Given the description of an element on the screen output the (x, y) to click on. 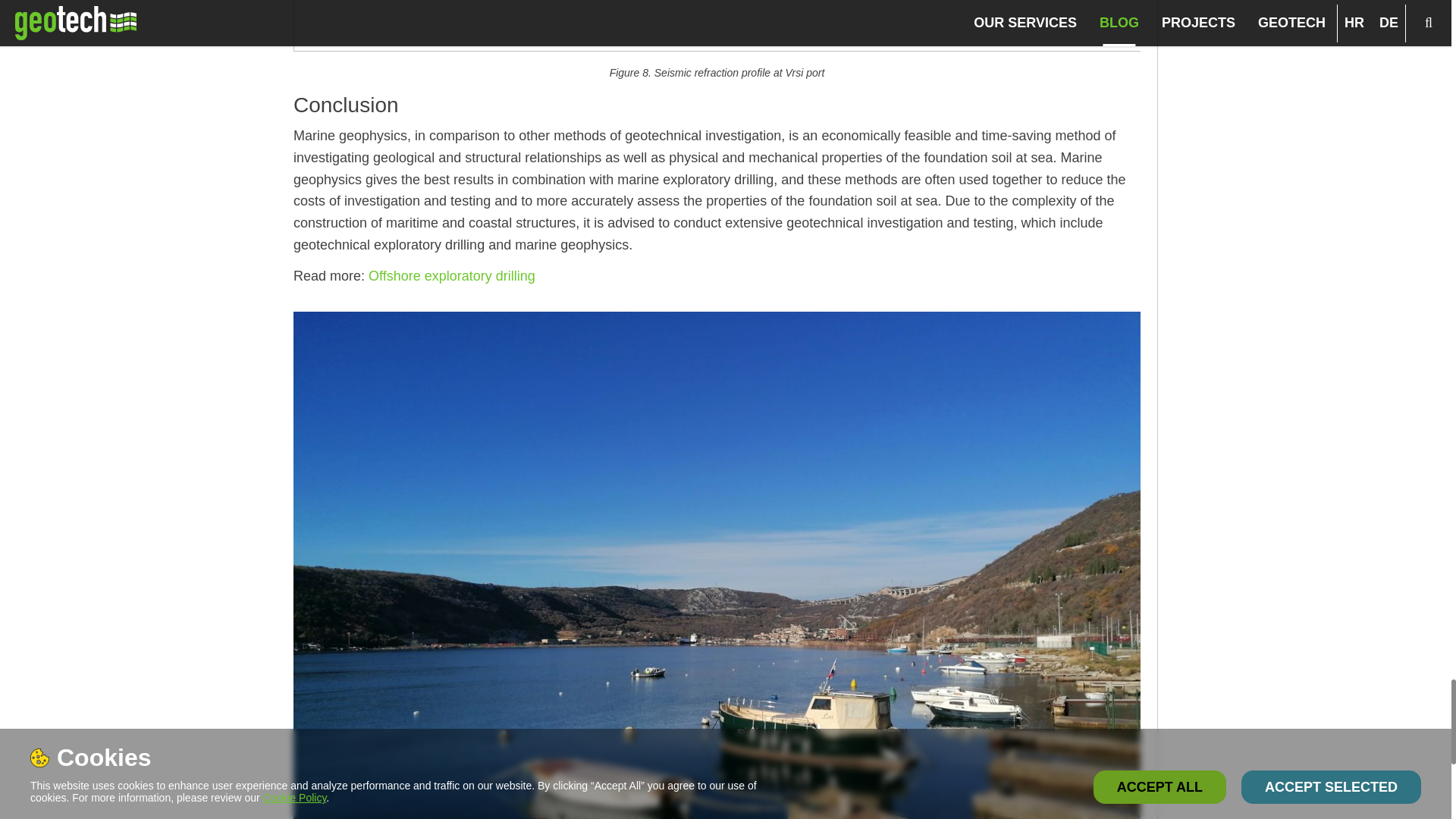
Offshore exploratory drilling (451, 275)
